Given the description of an element on the screen output the (x, y) to click on. 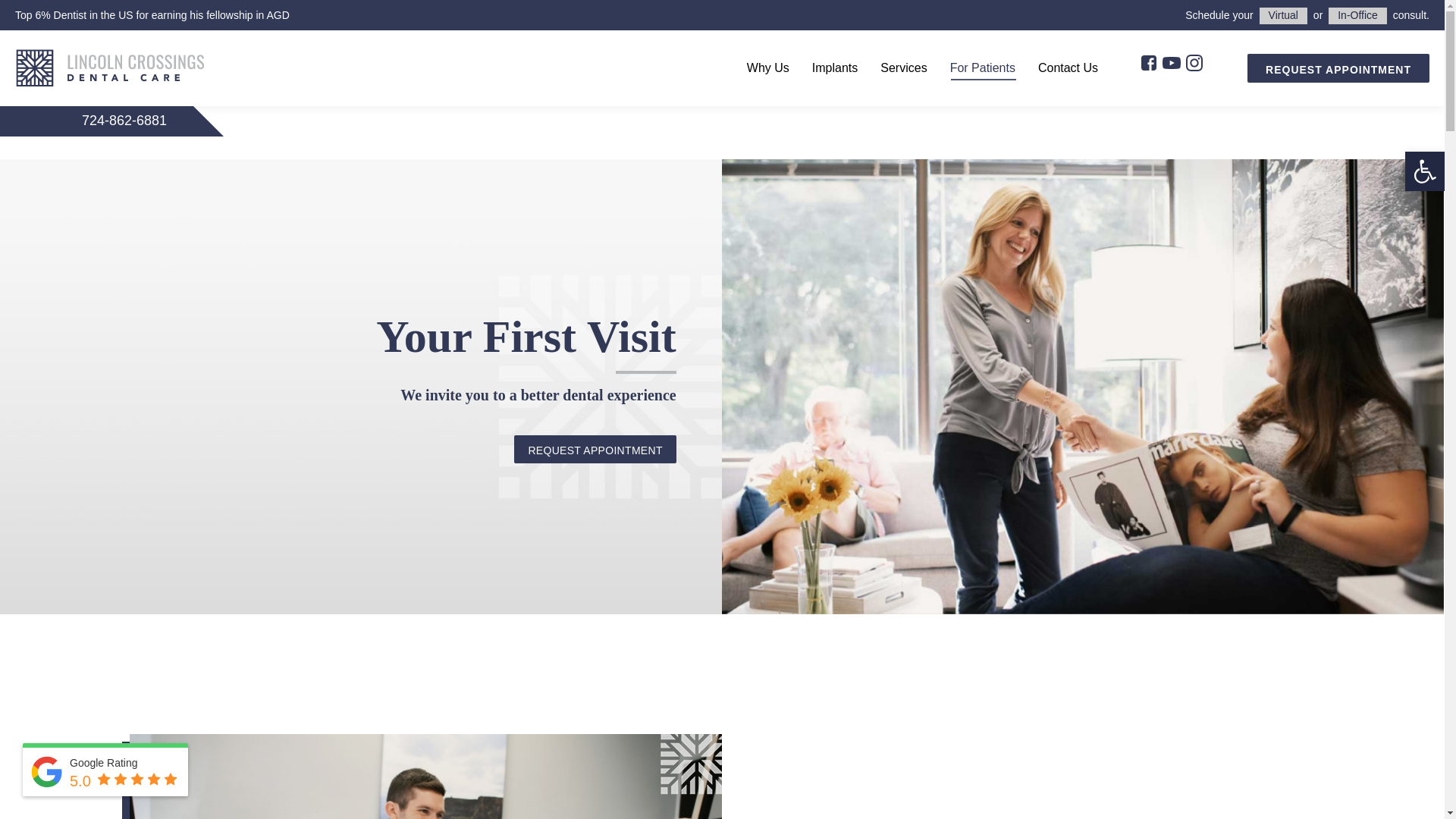
Services (903, 68)
In-Office (1357, 15)
Facebook page opens in new window (1150, 65)
Instagram page opens in new window (1196, 65)
Implants (834, 68)
YouTube page opens in new window (1173, 65)
leftimg-cor (691, 763)
Request an Appointment (594, 448)
Accessibility Tools (1424, 170)
Why Us (767, 68)
Call now! (138, 120)
Virtual (1283, 15)
